Given the description of an element on the screen output the (x, y) to click on. 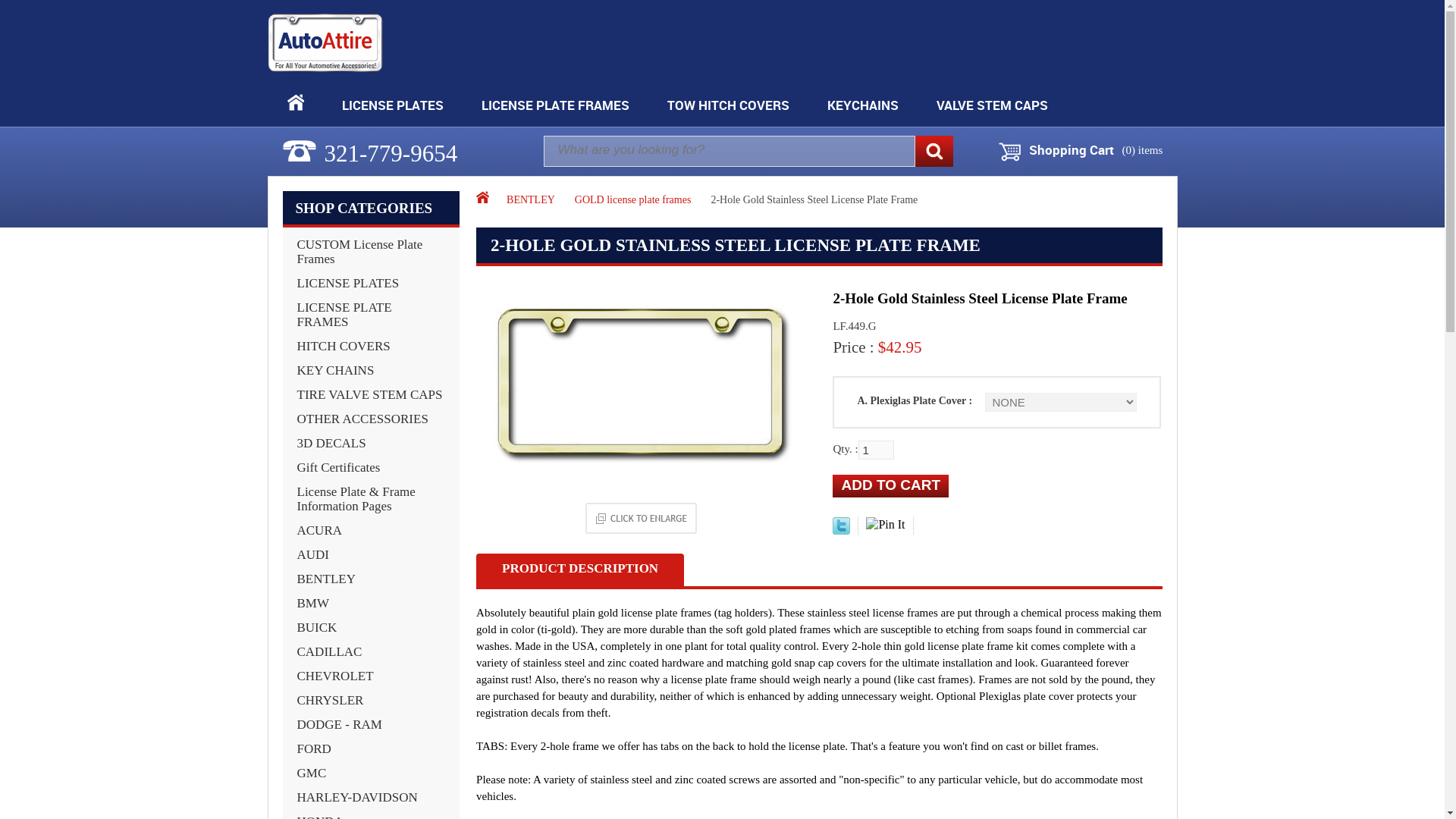
LICENSE PLATES (392, 103)
Add to Cart (890, 486)
VALVE STEM CAPS (991, 103)
1 (876, 448)
LICENSE PLATE FRAMES (554, 103)
KEYCHAINS (861, 103)
Tweet (841, 529)
Pin It (885, 524)
2-Hole Gold Stainless Steel License Plate Frame (640, 381)
TOW HITCH COVERS (728, 103)
